Given the description of an element on the screen output the (x, y) to click on. 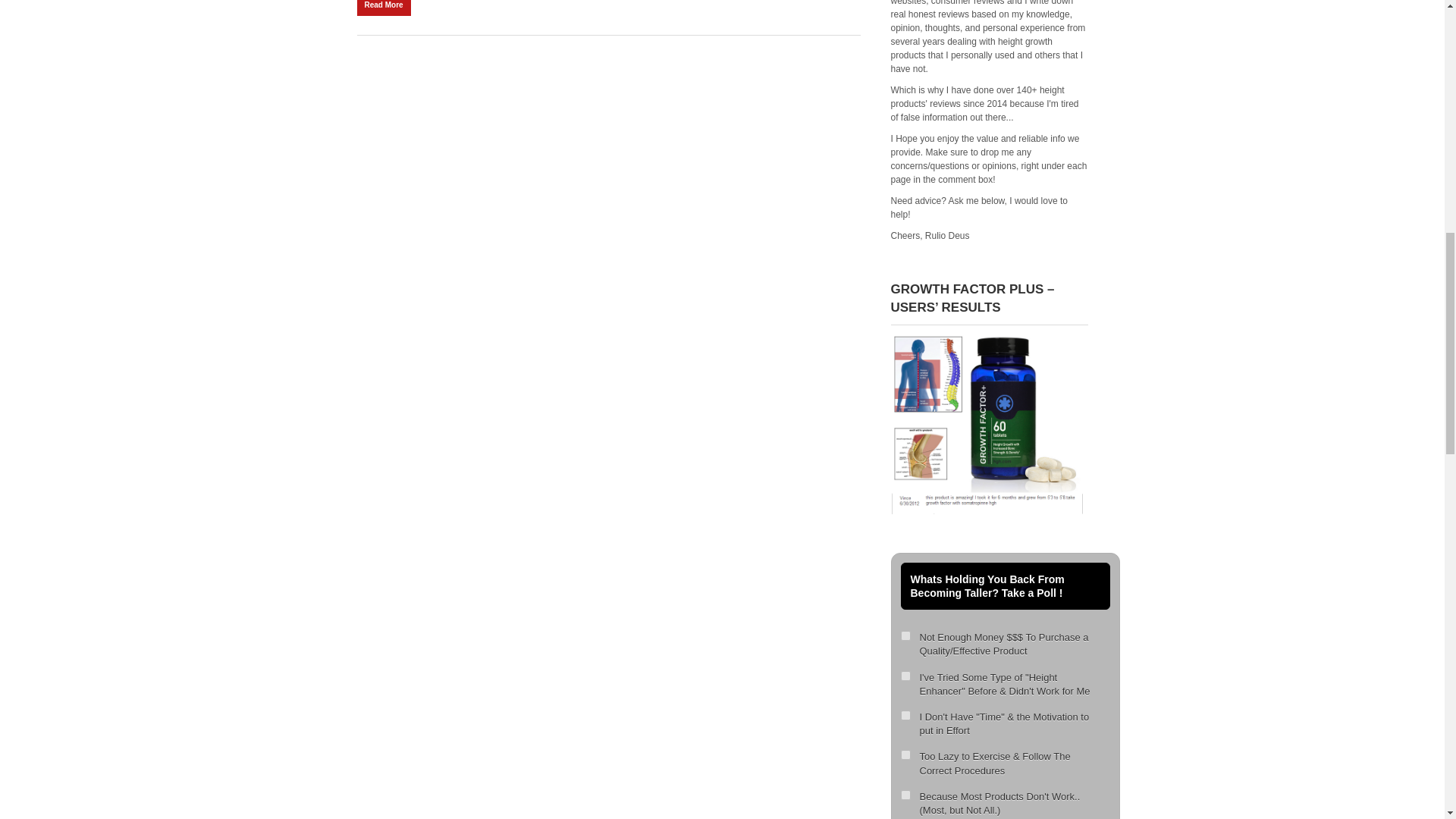
37688121 (906, 795)
Read More (383, 7)
37688124 (906, 635)
37688126 (906, 755)
37688122 (906, 715)
37688125 (906, 675)
